Given the description of an element on the screen output the (x, y) to click on. 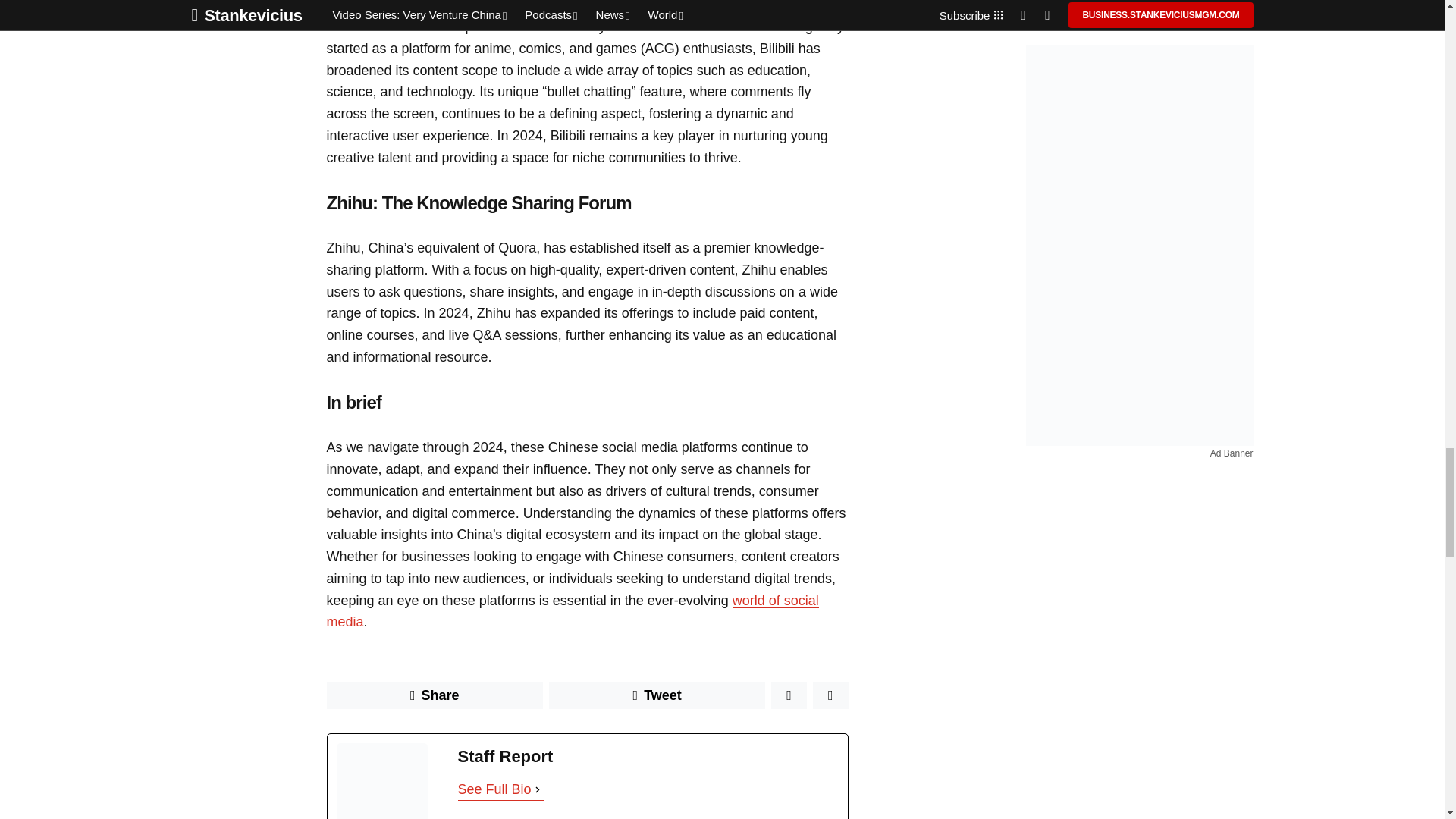
How to brand your business or yourself using media (572, 610)
